Given the description of an element on the screen output the (x, y) to click on. 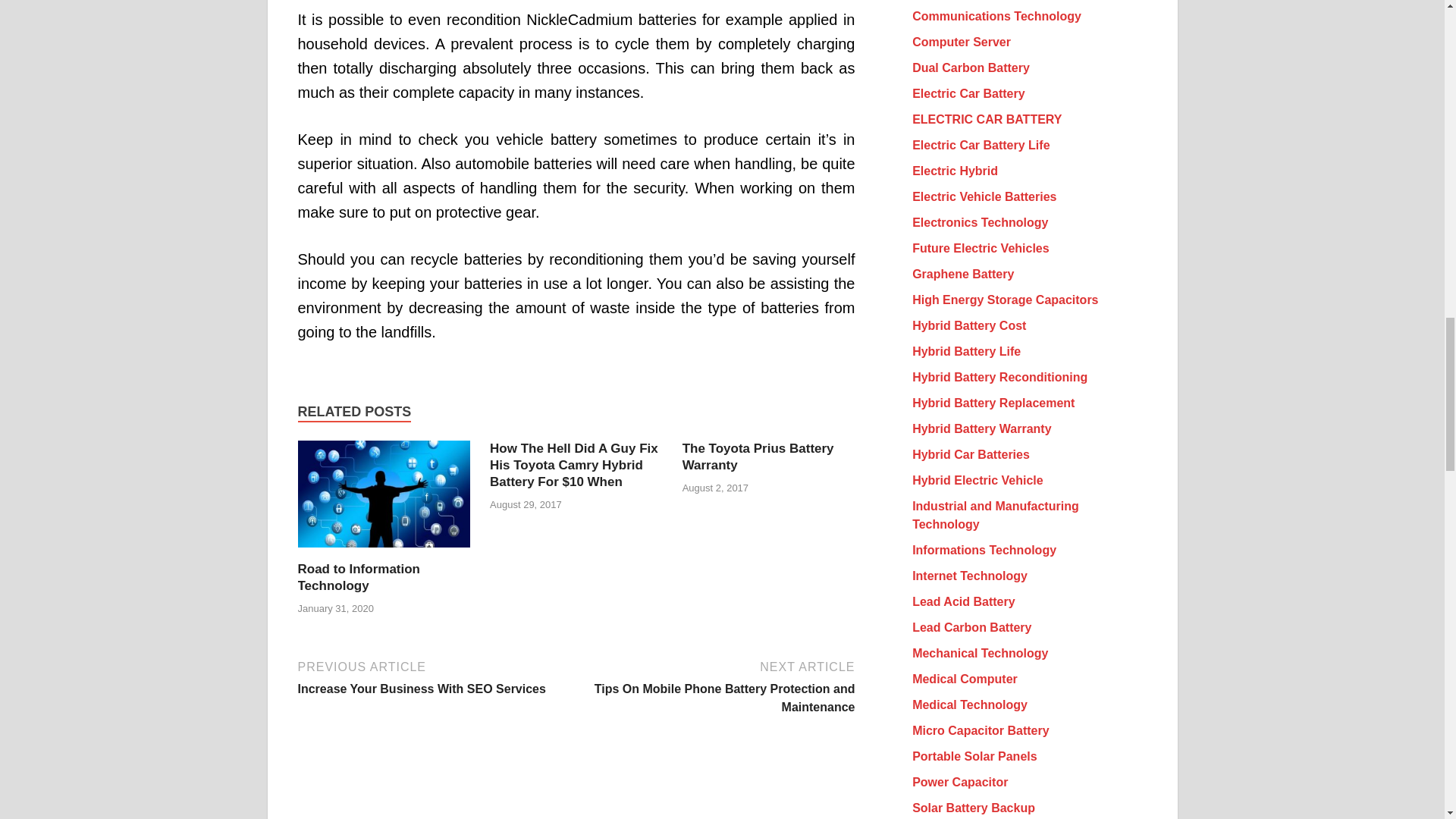
Road to Information Technology (358, 576)
The Toyota Prius Battery Warranty (758, 456)
Road to Information Technology (383, 551)
